Given the description of an element on the screen output the (x, y) to click on. 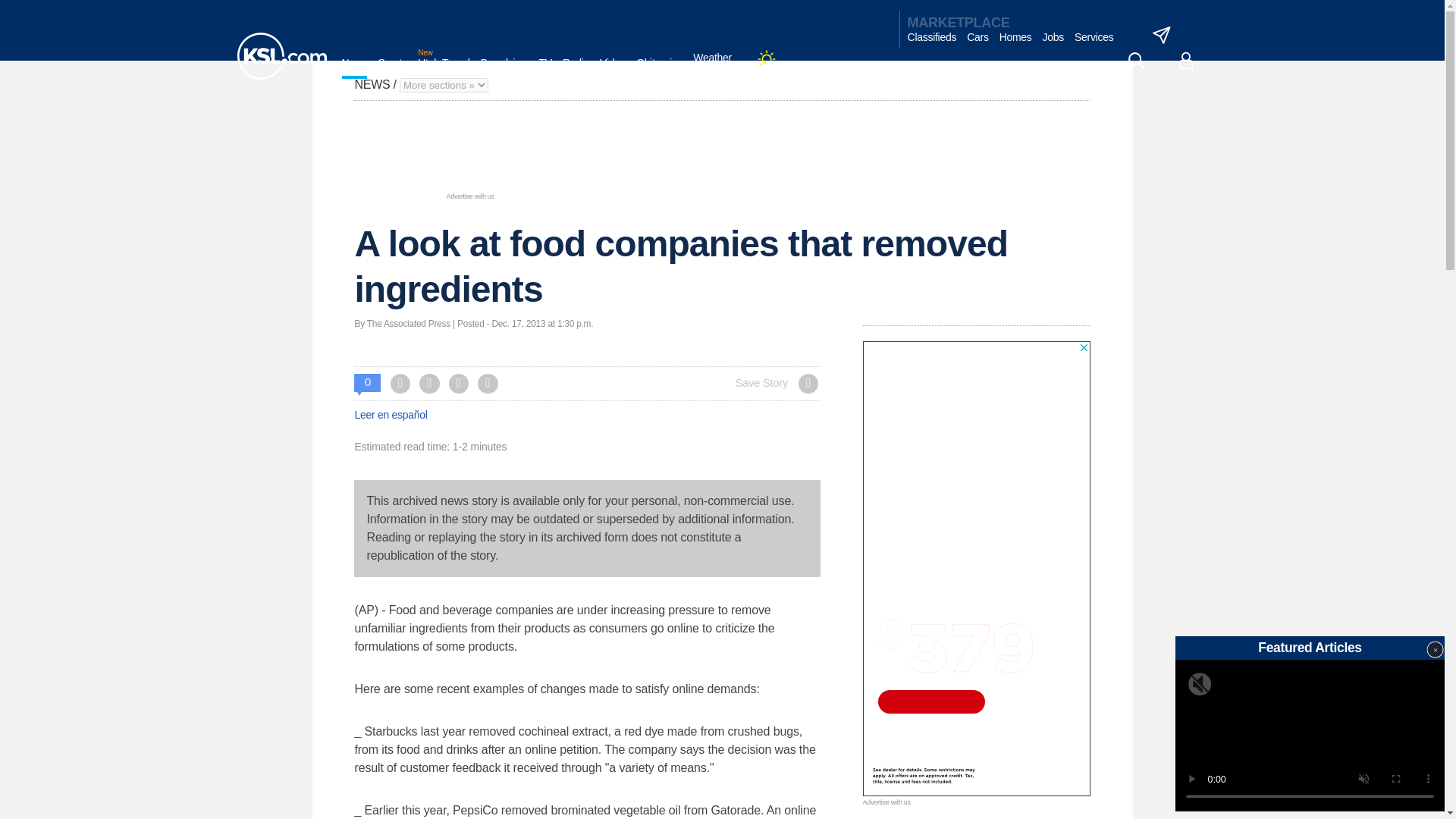
search (1135, 60)
account - logged out (1185, 60)
3rd party ad content (721, 156)
KSL homepage (280, 55)
